Given the description of an element on the screen output the (x, y) to click on. 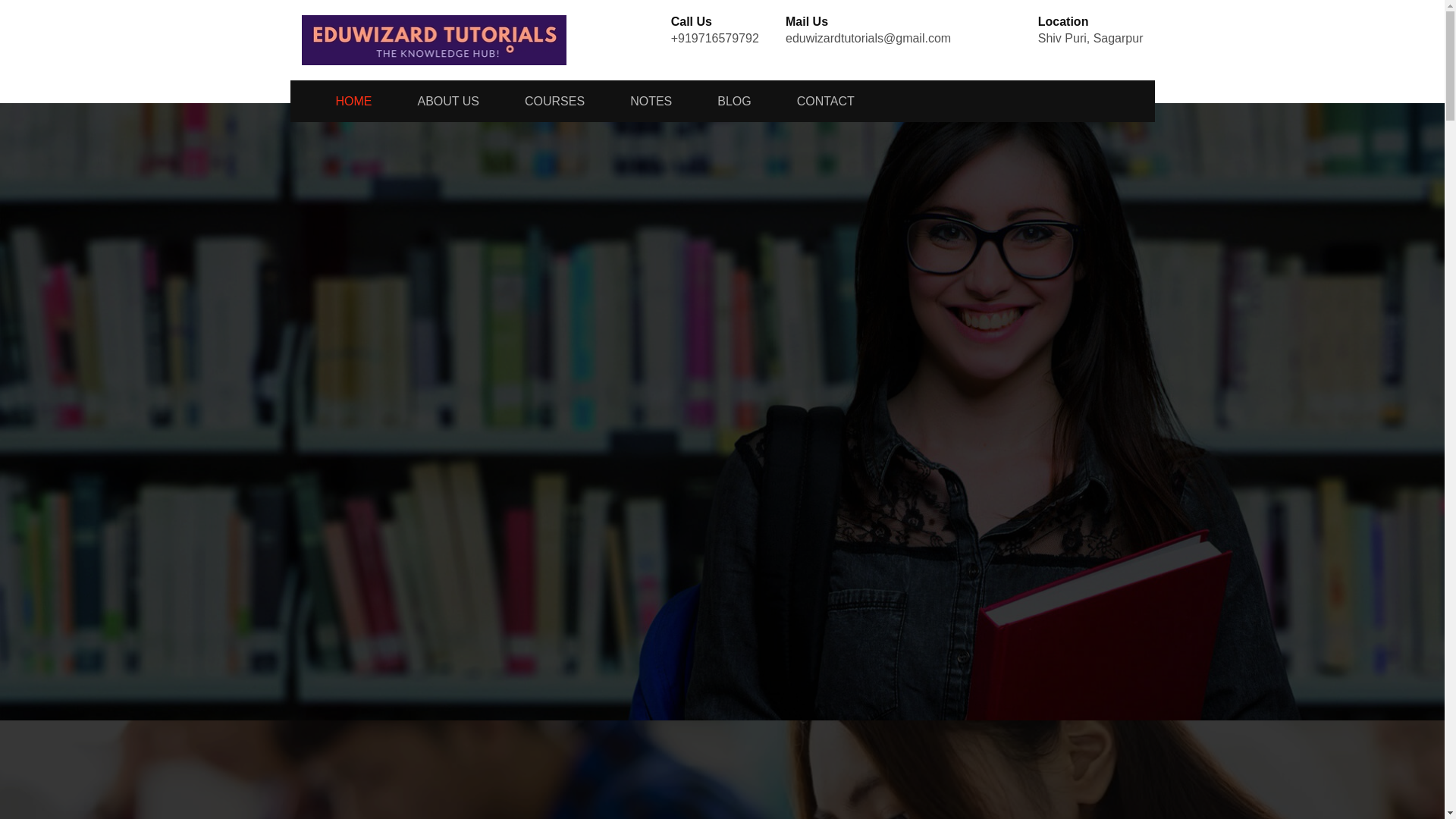
NOTES (650, 101)
ABOUT US (447, 101)
CONTACT (825, 101)
HOME (337, 101)
COURSES (554, 101)
